Given the description of an element on the screen output the (x, y) to click on. 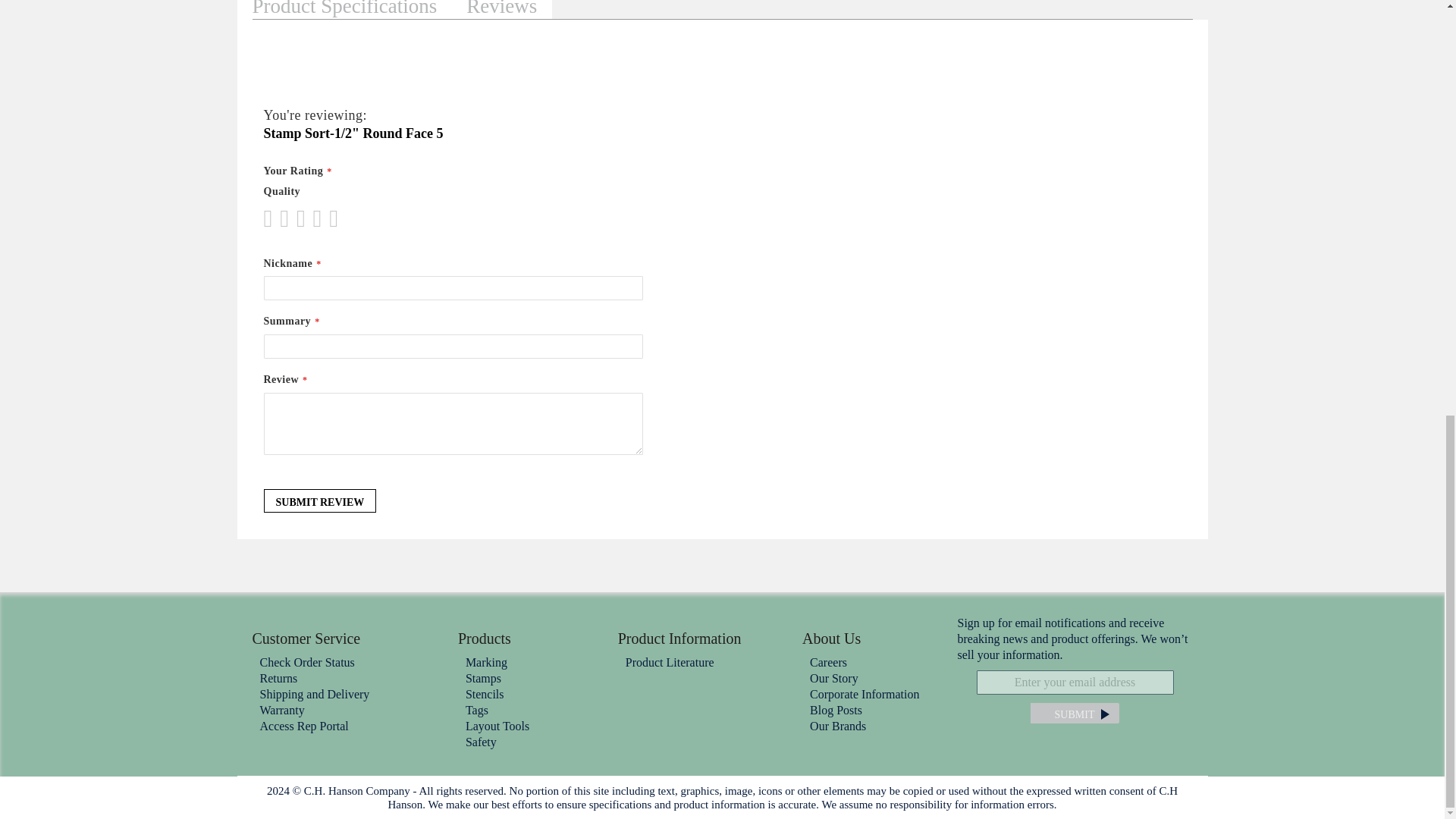
5 stars (304, 218)
3 stars (288, 218)
2 stars (280, 218)
4 stars (296, 218)
Subscribe (1073, 712)
